Given the description of an element on the screen output the (x, y) to click on. 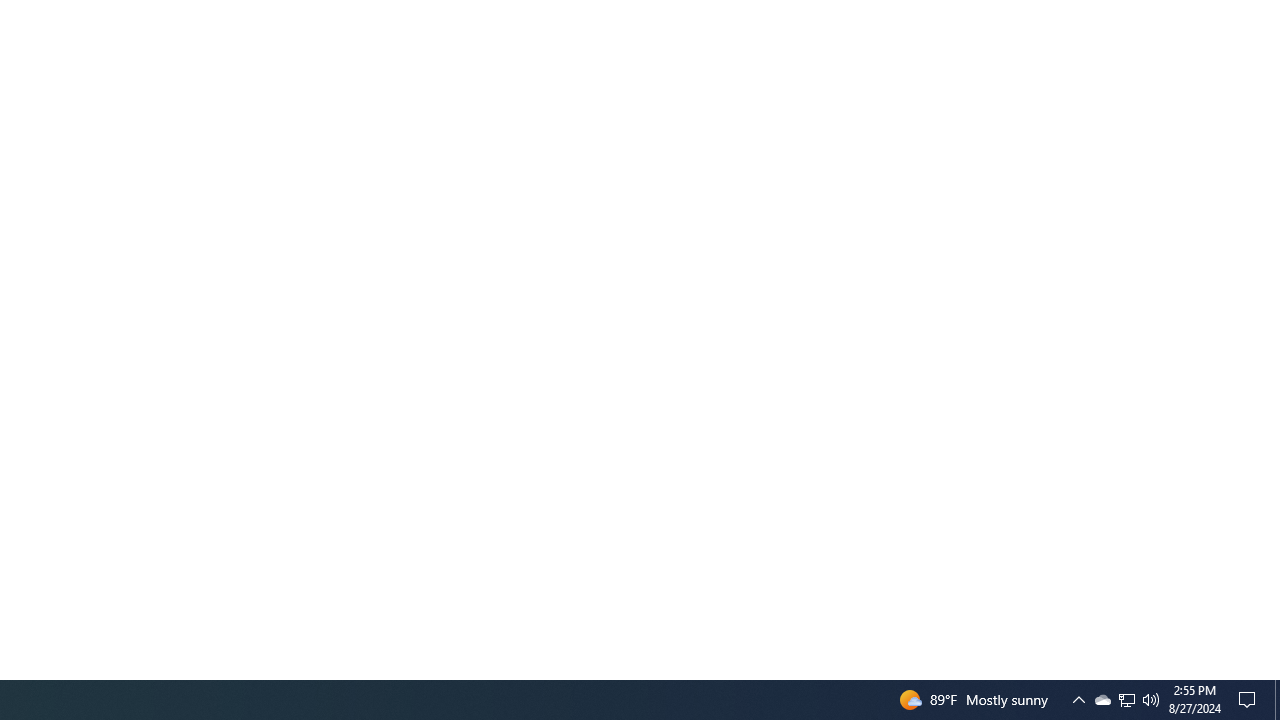
User Promoted Notification Area (1126, 699)
Notification Chevron (1078, 699)
Q2790: 100% (1151, 699)
Show desktop (1126, 699)
Action Center, No new notifications (1102, 699)
